Given the description of an element on the screen output the (x, y) to click on. 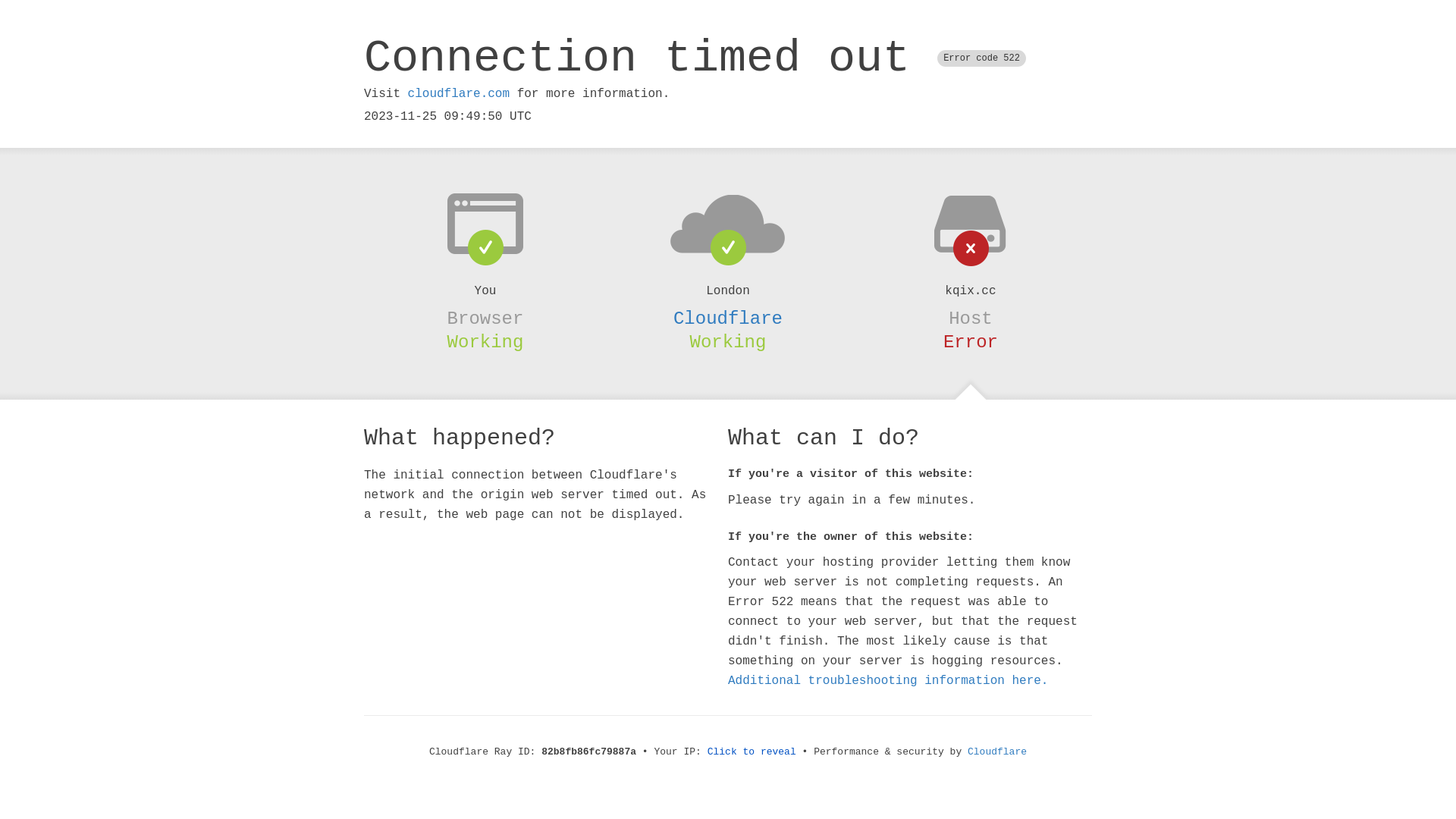
Cloudflare Element type: text (996, 751)
Click to reveal Element type: text (751, 751)
cloudflare.com Element type: text (458, 93)
Additional troubleshooting information here. Element type: text (888, 680)
Cloudflare Element type: text (727, 318)
